Given the description of an element on the screen output the (x, y) to click on. 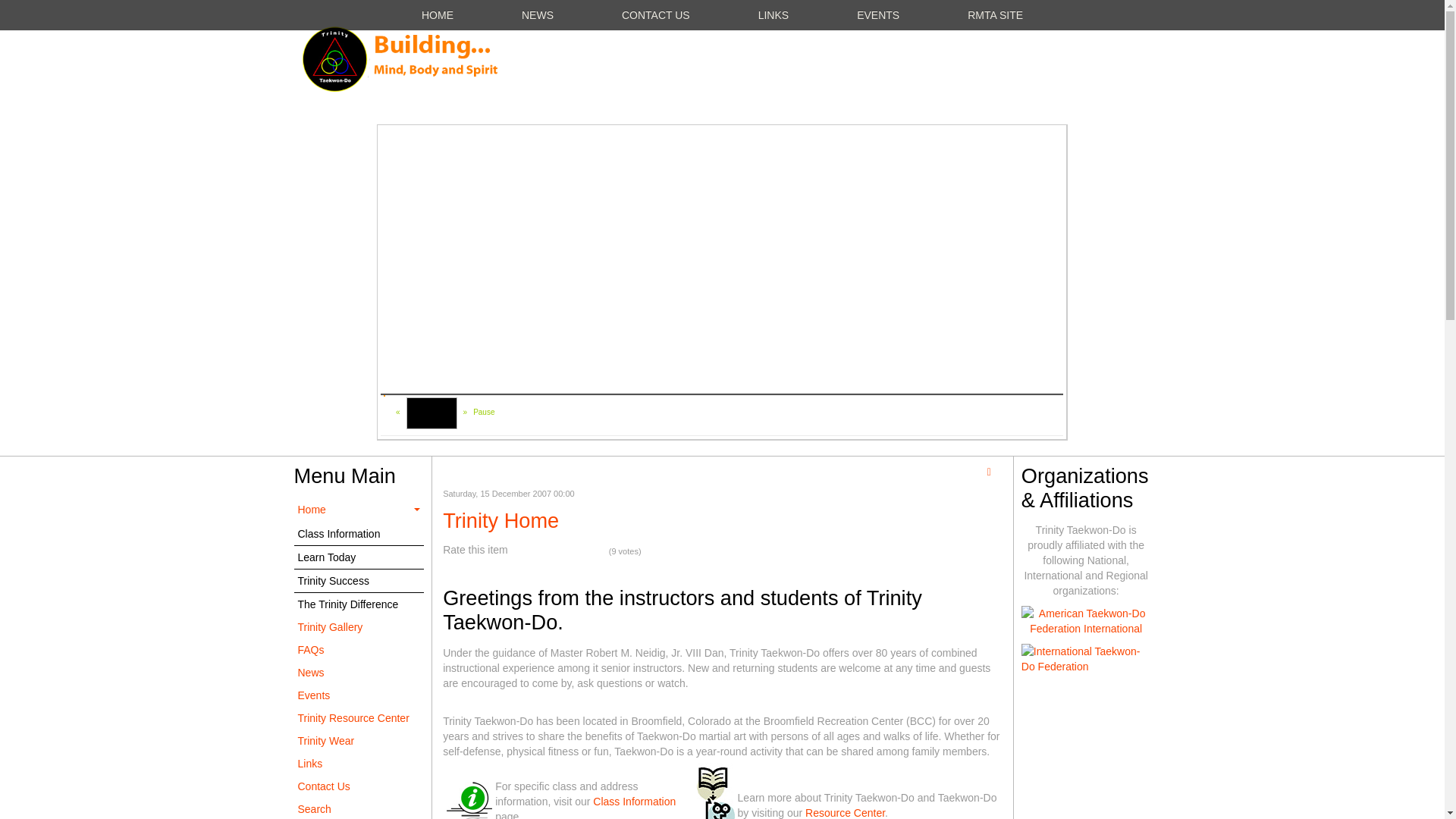
Trinity Resource Center (359, 717)
5 stars out of 5 (558, 551)
More... (409, 379)
Links (359, 763)
LINKS (773, 15)
Trinity Home (432, 413)
5 (558, 551)
RMTA SITE (995, 15)
4 (548, 551)
Pause (483, 412)
